Given the description of an element on the screen output the (x, y) to click on. 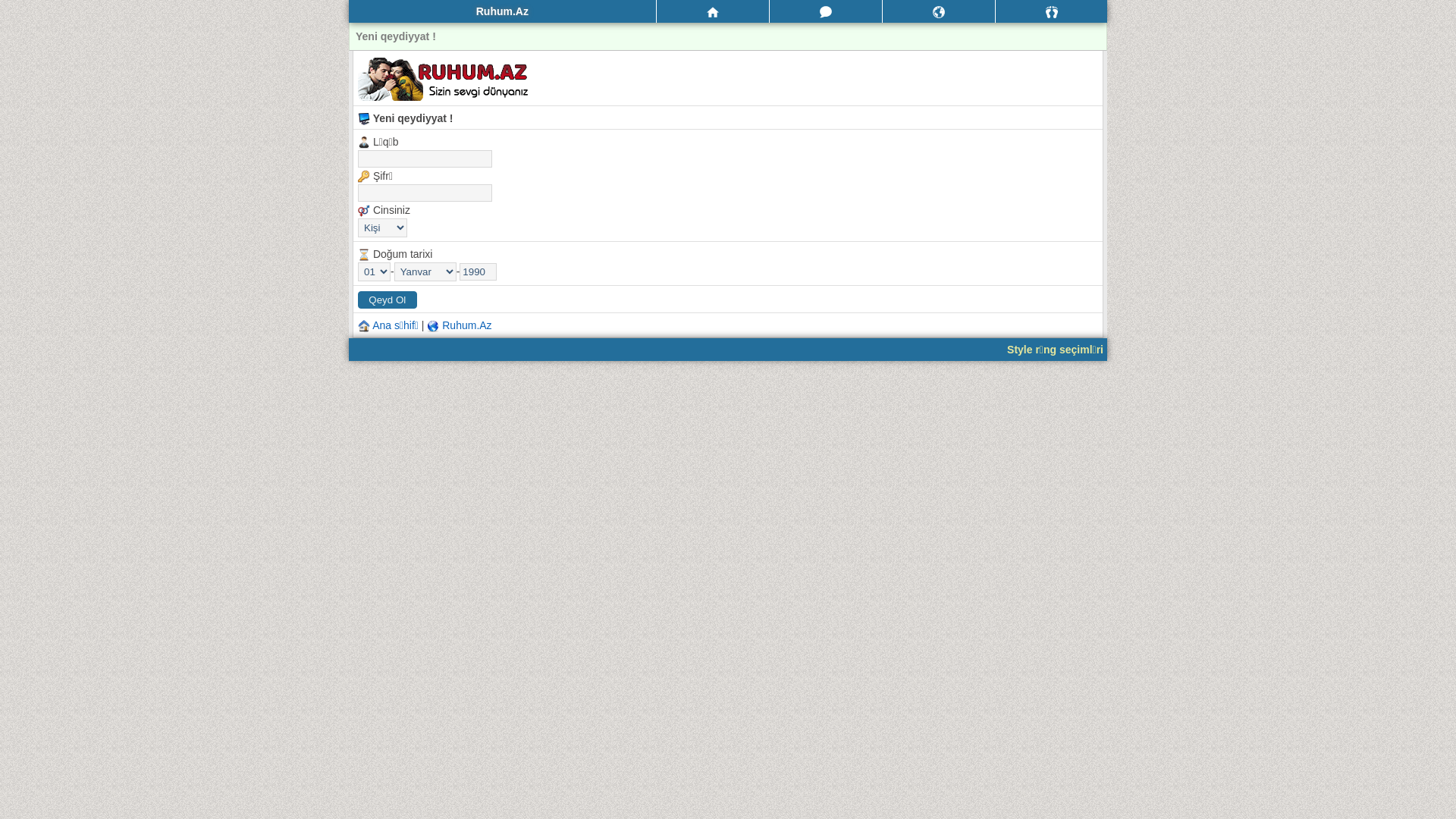
Leqebiniz (Nick) Element type: hover (424, 158)
Leqebiniz (Nick) Element type: hover (424, 192)
Ruhum.Az Element type: text (466, 325)
Qonaqlar Element type: hover (1051, 11)
Bildirisler Element type: hover (938, 11)
Mesajlar Element type: hover (825, 11)
Qeyd Ol Element type: text (387, 299)
